Given the description of an element on the screen output the (x, y) to click on. 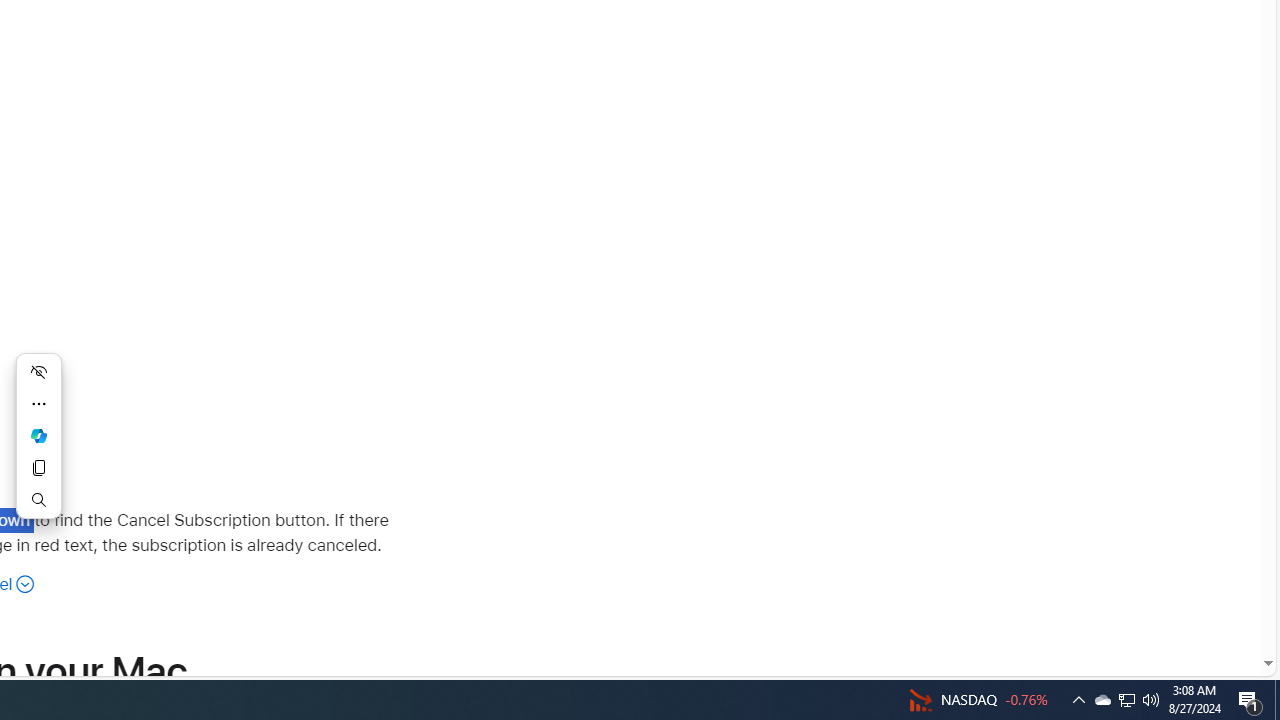
Ask Copilot (38, 435)
Copy (38, 467)
Search (38, 499)
More actions (38, 403)
Hide menu (38, 371)
Mini menu on text selection (38, 435)
